Given the description of an element on the screen output the (x, y) to click on. 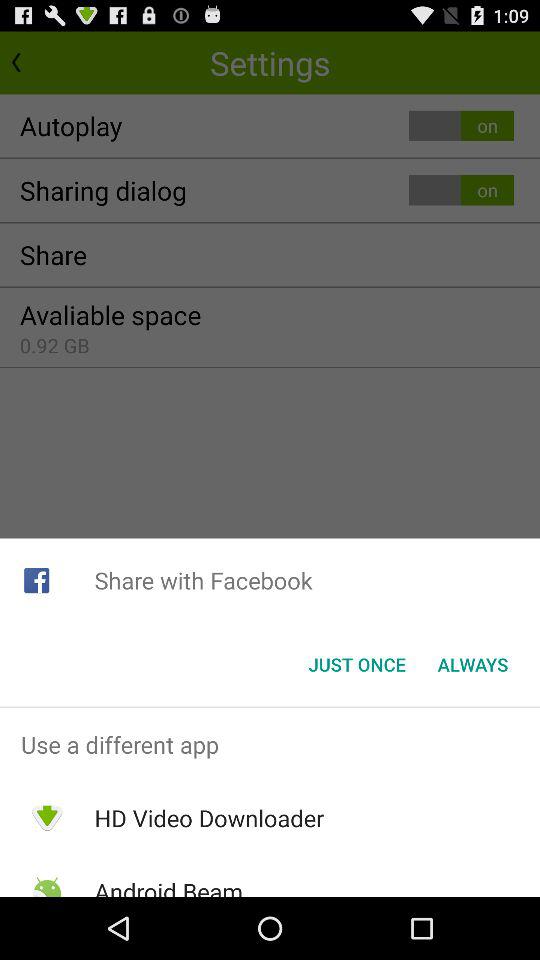
scroll until hd video downloader item (209, 817)
